Given the description of an element on the screen output the (x, y) to click on. 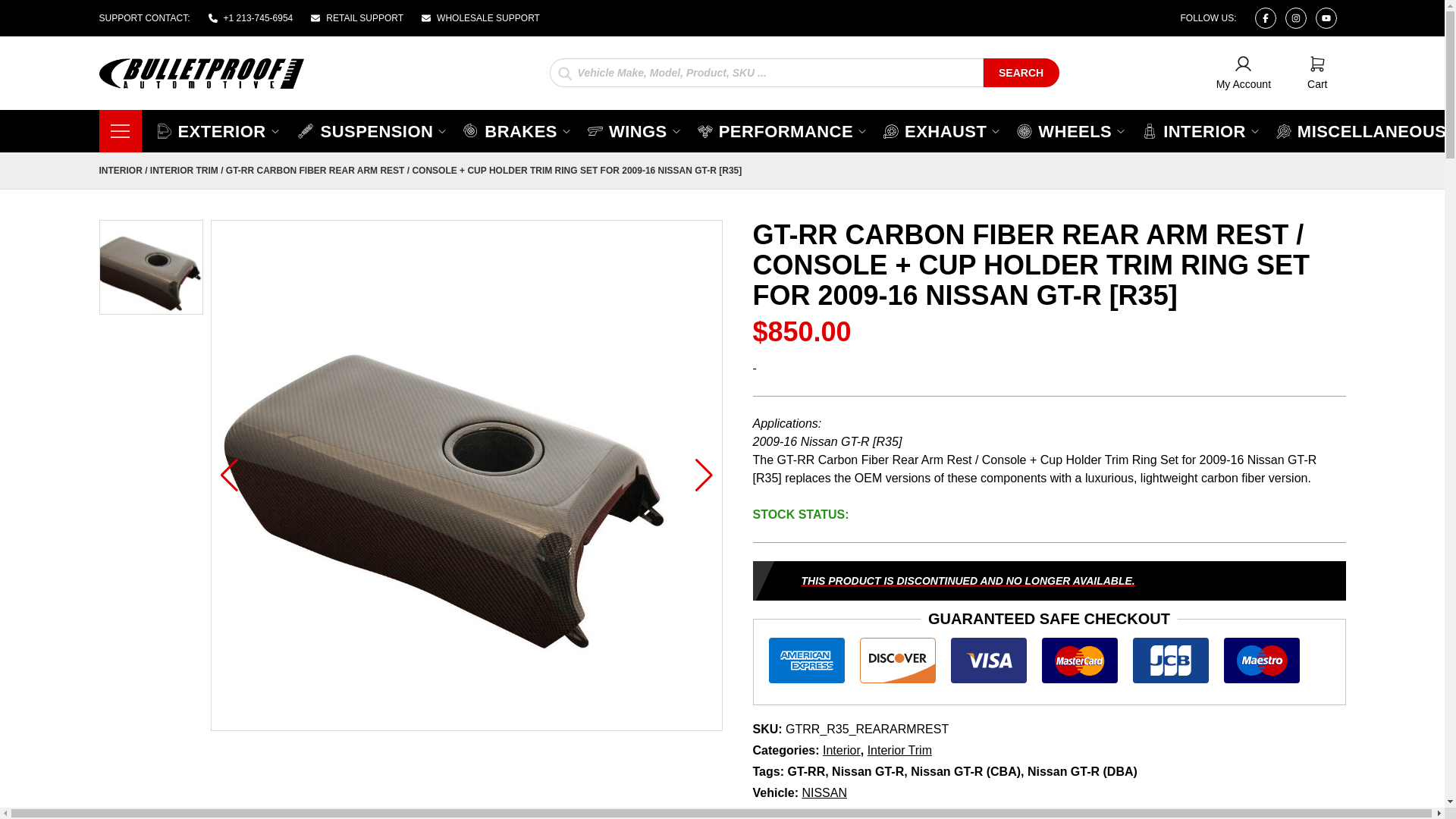
EXTERIOR (1316, 73)
Facebook (1243, 73)
Youtube (218, 130)
SEARCH (1264, 17)
BRAKES (1325, 17)
SUSPENSION (1021, 71)
WHOLESALE SUPPORT (517, 130)
RETAIL SUPPORT (372, 130)
Instagram (481, 18)
